Given the description of an element on the screen output the (x, y) to click on. 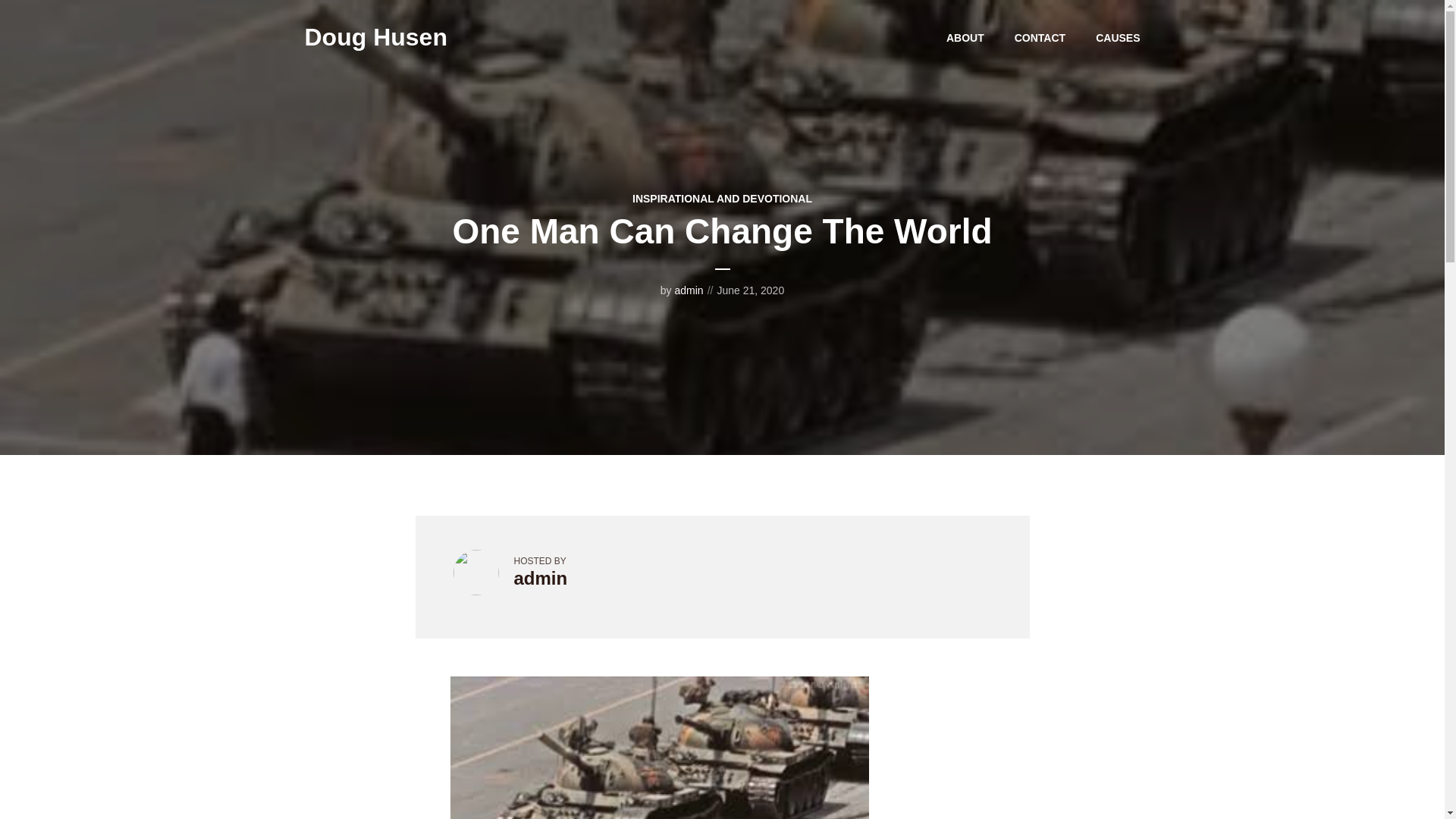
Doug Husen (375, 36)
admin (540, 578)
CONTACT (1039, 37)
ABOUT (965, 37)
INSPIRATIONAL AND DEVOTIONAL (721, 198)
admin (689, 290)
CAUSES (1118, 37)
